Given the description of an element on the screen output the (x, y) to click on. 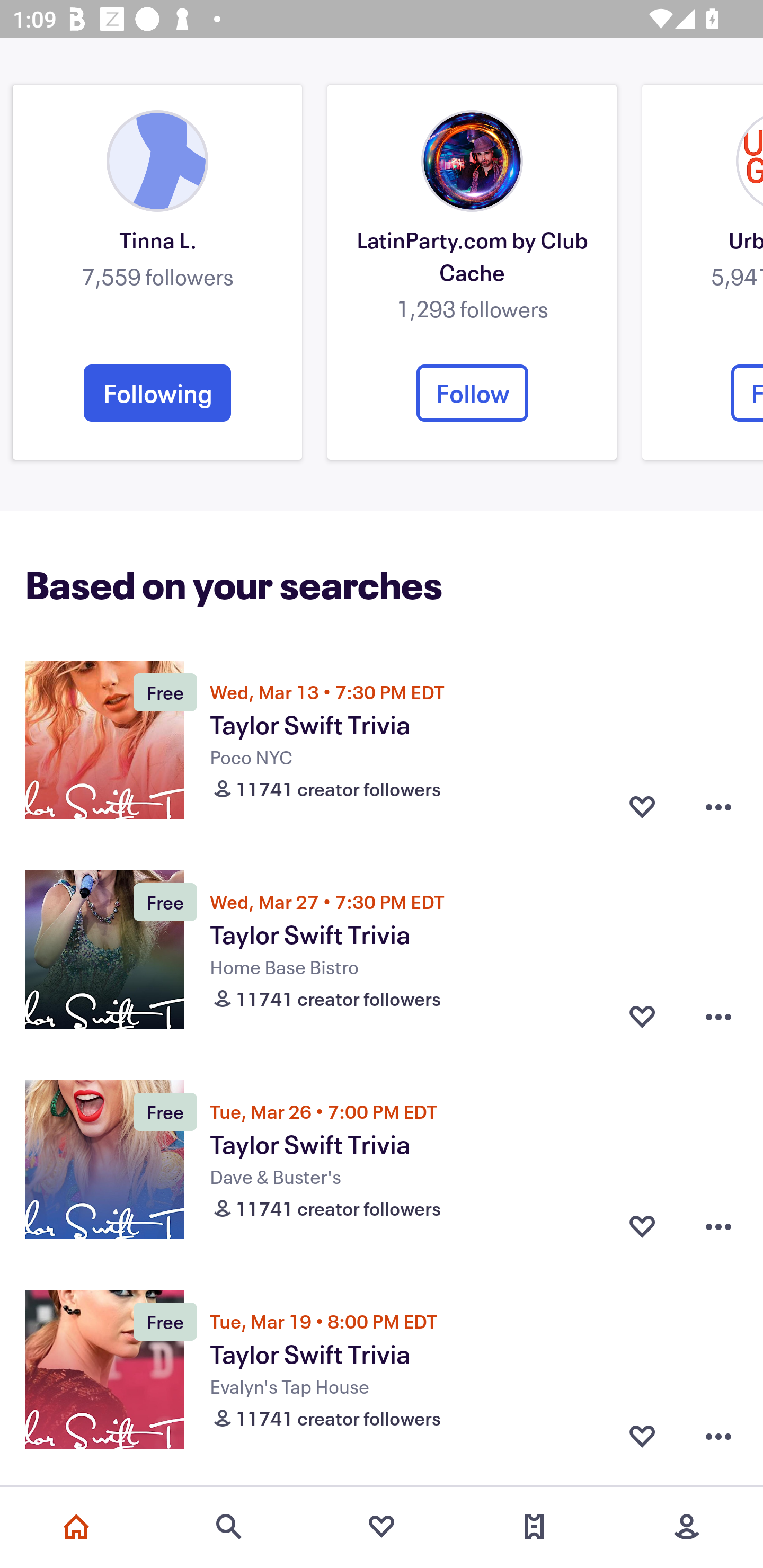
Follow Organizer's follow button (157, 392)
Follow Organizer's follow button (471, 392)
Favorite button (642, 807)
Overflow menu button (718, 807)
Favorite button (642, 1016)
Overflow menu button (718, 1016)
Favorite button (642, 1225)
Overflow menu button (718, 1225)
Favorite button (642, 1435)
Overflow menu button (718, 1435)
Home (76, 1526)
Search events (228, 1526)
Favorites (381, 1526)
Tickets (533, 1526)
More (686, 1526)
